Given the description of an element on the screen output the (x, y) to click on. 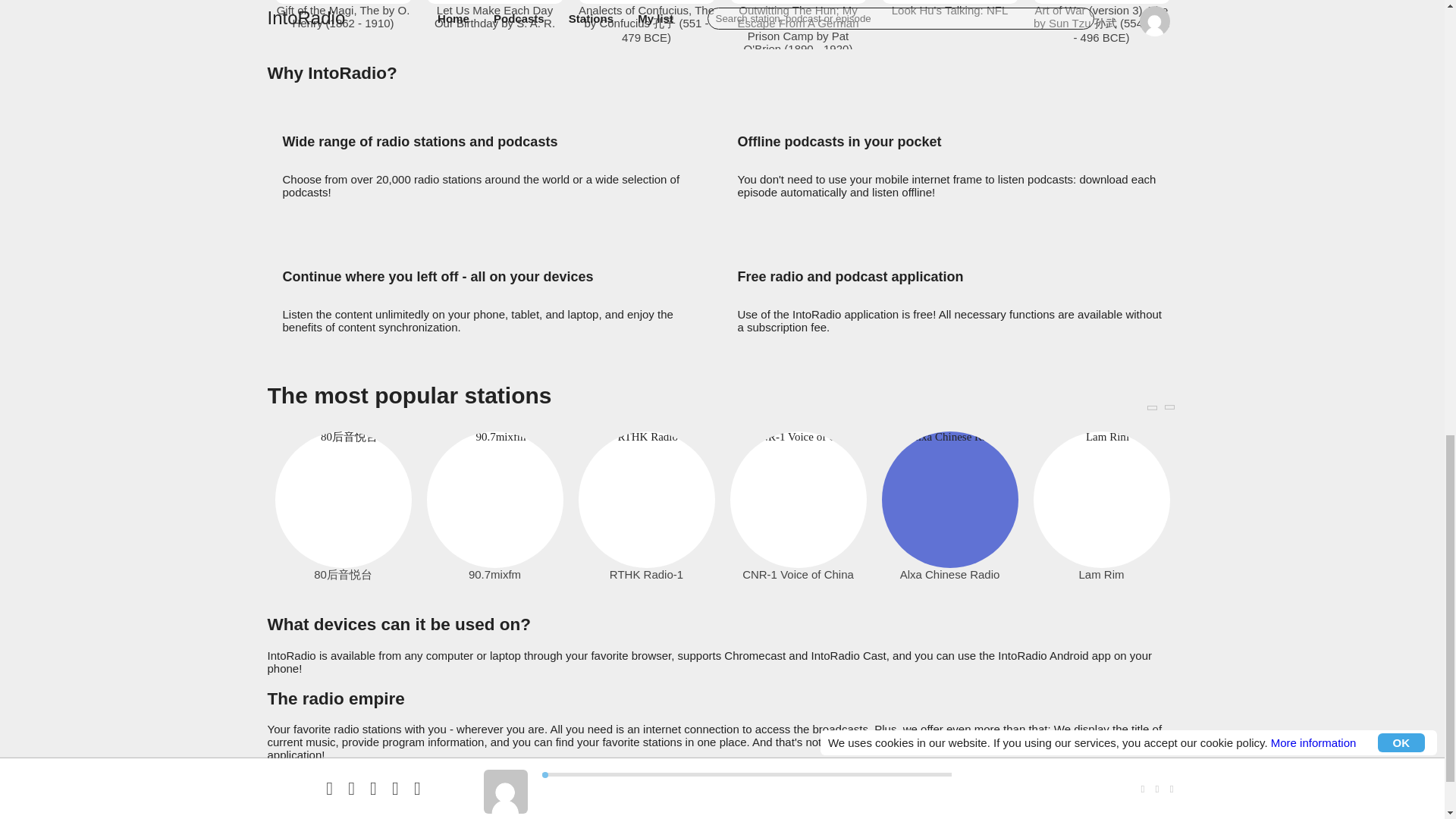
Let Us Make Each Day Our Birthday by S. A. R. (493, 16)
Look Hu's Talking: NFL (950, 10)
